Given the description of an element on the screen output the (x, y) to click on. 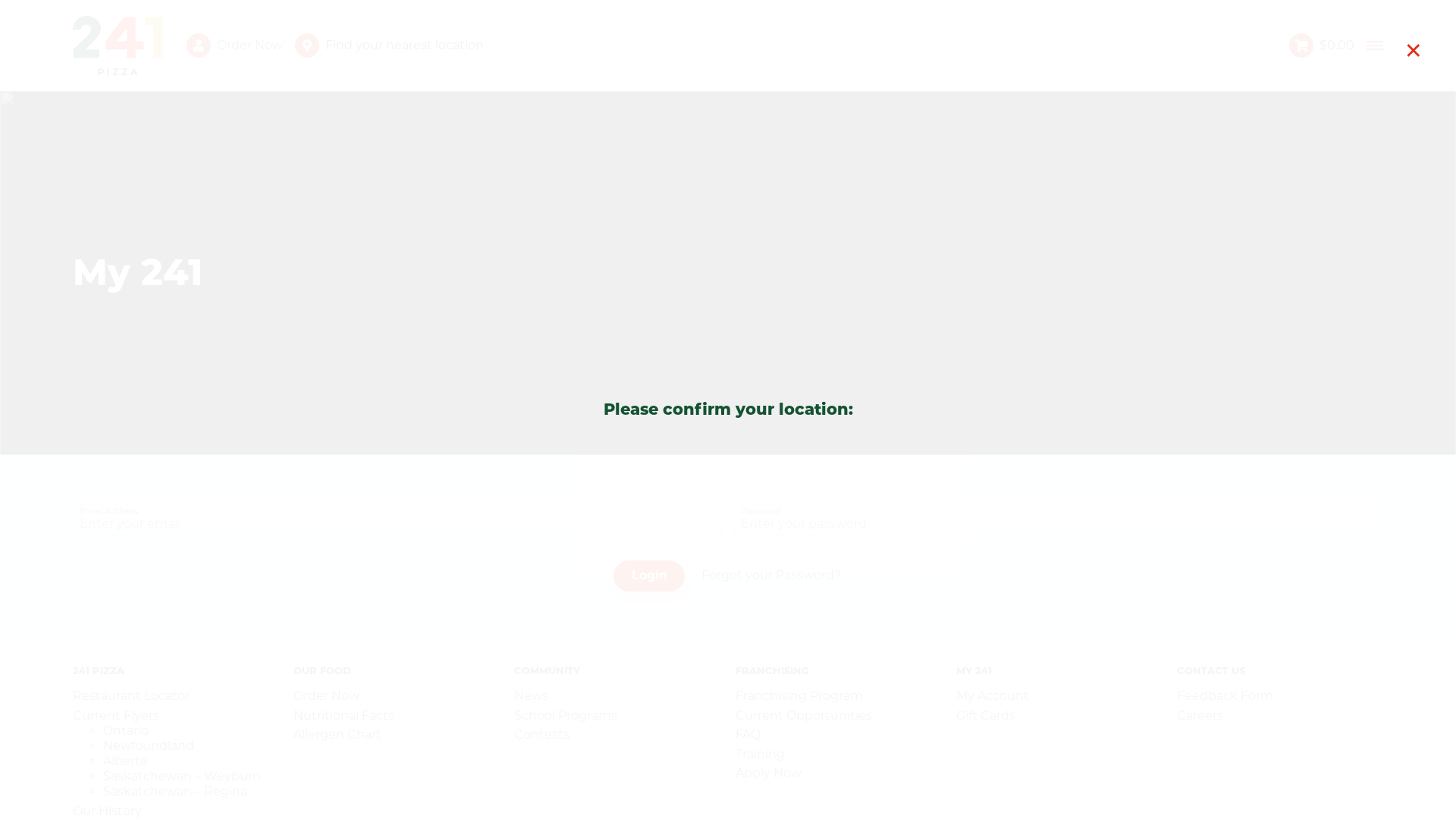
Contests Element type: text (541, 734)
Our History Element type: text (106, 810)
Apply Now Element type: text (768, 772)
Email Address Element type: hover (397, 523)
Franchising Program Element type: text (798, 695)
Order Now Element type: text (249, 44)
Restaurant Locator Element type: text (130, 695)
Feedback Form Element type: text (1224, 695)
Nutritional Facts Element type: text (343, 715)
My Account Element type: text (992, 695)
Order Now Element type: text (326, 695)
Gift Cards Element type: text (985, 715)
Forgot your Password? Element type: text (770, 575)
$0.00 Element type: text (1327, 45)
FAQ Element type: text (747, 734)
Login Element type: text (648, 575)
Alberta Element type: text (125, 760)
241 Pizza Element type: hover (129, 45)
Current Flyers Element type: text (115, 715)
Current Opportunities Element type: text (803, 715)
Password Element type: hover (1058, 523)
Allergen Chart Element type: text (337, 734)
Careers Element type: text (1199, 715)
News Element type: text (531, 695)
Training Element type: text (759, 753)
Ontario Element type: text (125, 730)
School Programs Element type: text (565, 715)
Menu Element type: text (1374, 45)
Newfoundland Element type: text (148, 745)
Find your nearest location Element type: text (791, 45)
